Given the description of an element on the screen output the (x, y) to click on. 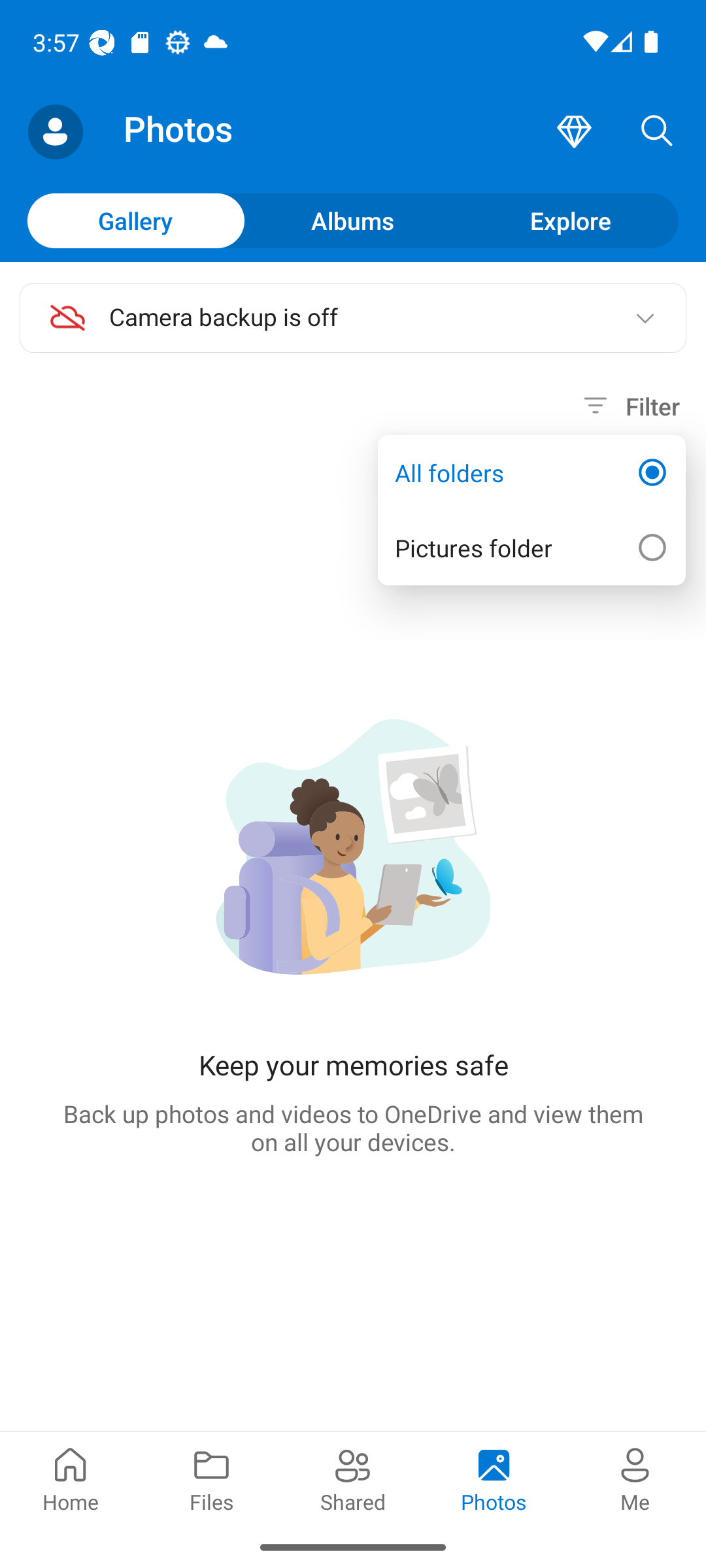
All folders (531, 472)
Pictures folder (531, 546)
